Given the description of an element on the screen output the (x, y) to click on. 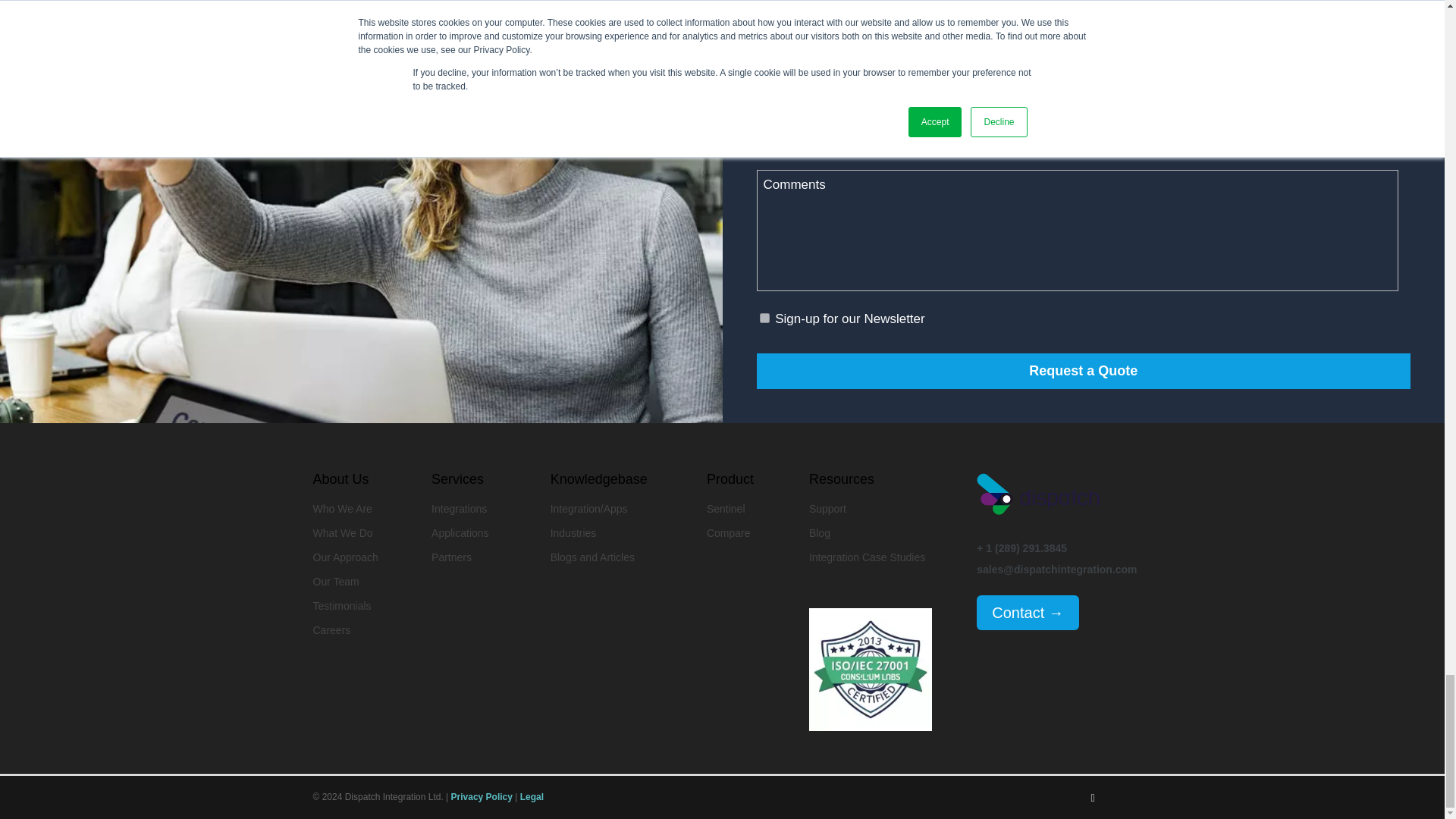
1 (765, 317)
Request a Quote (1083, 370)
